Given the description of an element on the screen output the (x, y) to click on. 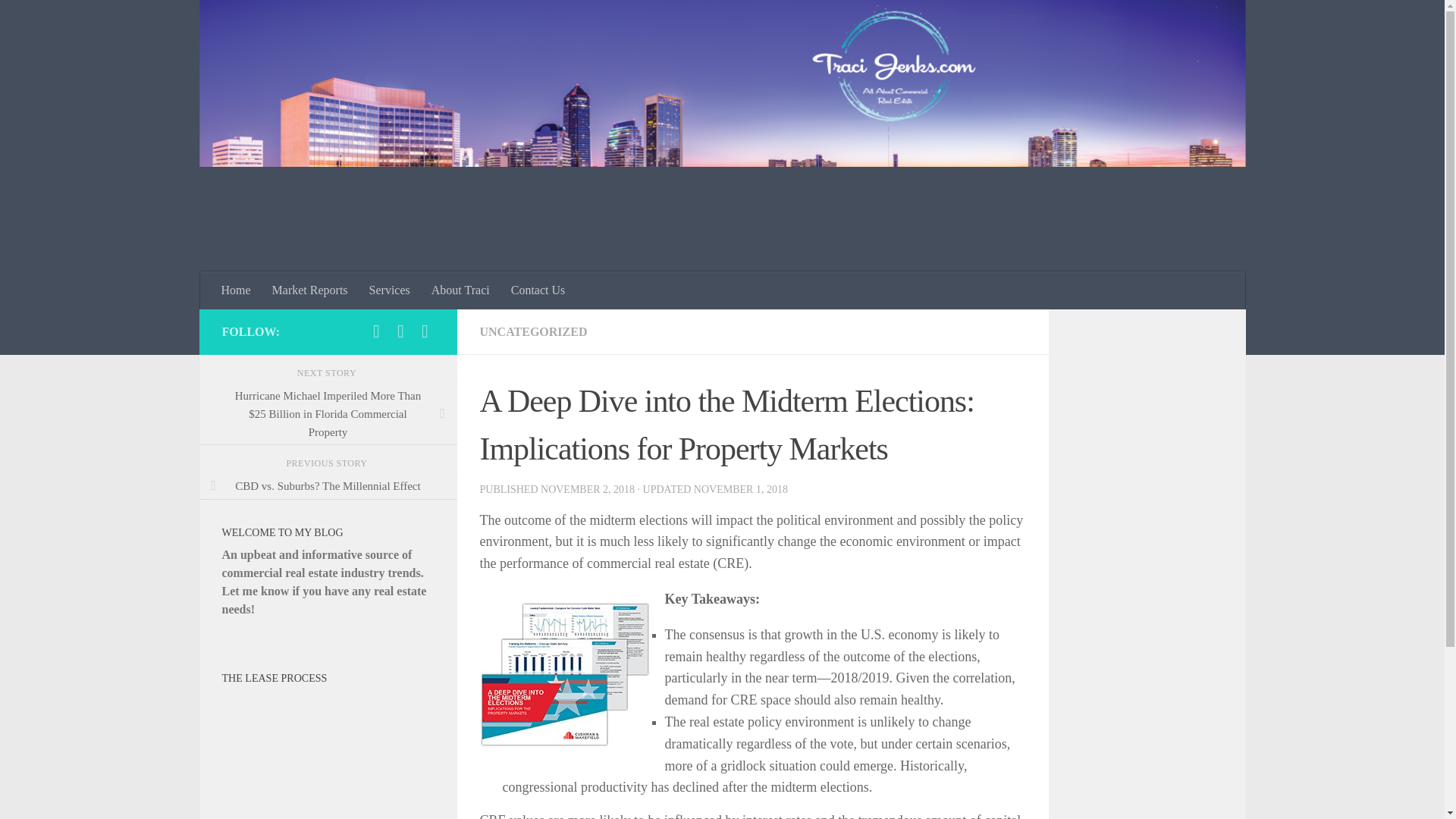
Market Reports (310, 290)
Follow us on Facebook (400, 331)
Services (389, 290)
Contact Us (538, 290)
Follow us on Linkedin (375, 331)
Home (236, 290)
Follow us on Twitter (423, 331)
Skip to content (59, 20)
UNCATEGORIZED (532, 331)
CBD vs. Suburbs? The Millennial Effect (327, 485)
About Traci (460, 290)
